Given the description of an element on the screen output the (x, y) to click on. 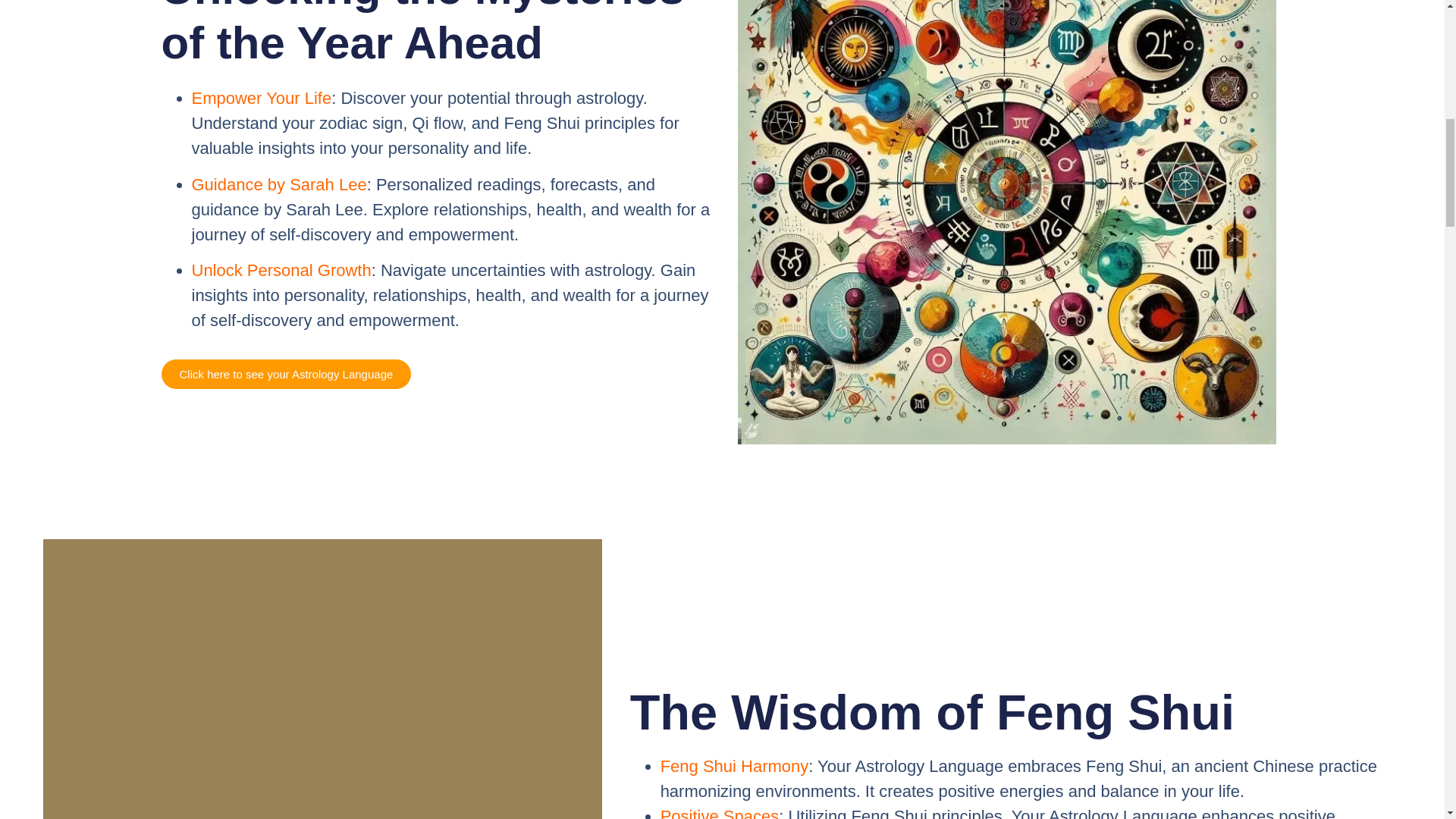
Click here to see your Astrology Language (285, 374)
